Given the description of an element on the screen output the (x, y) to click on. 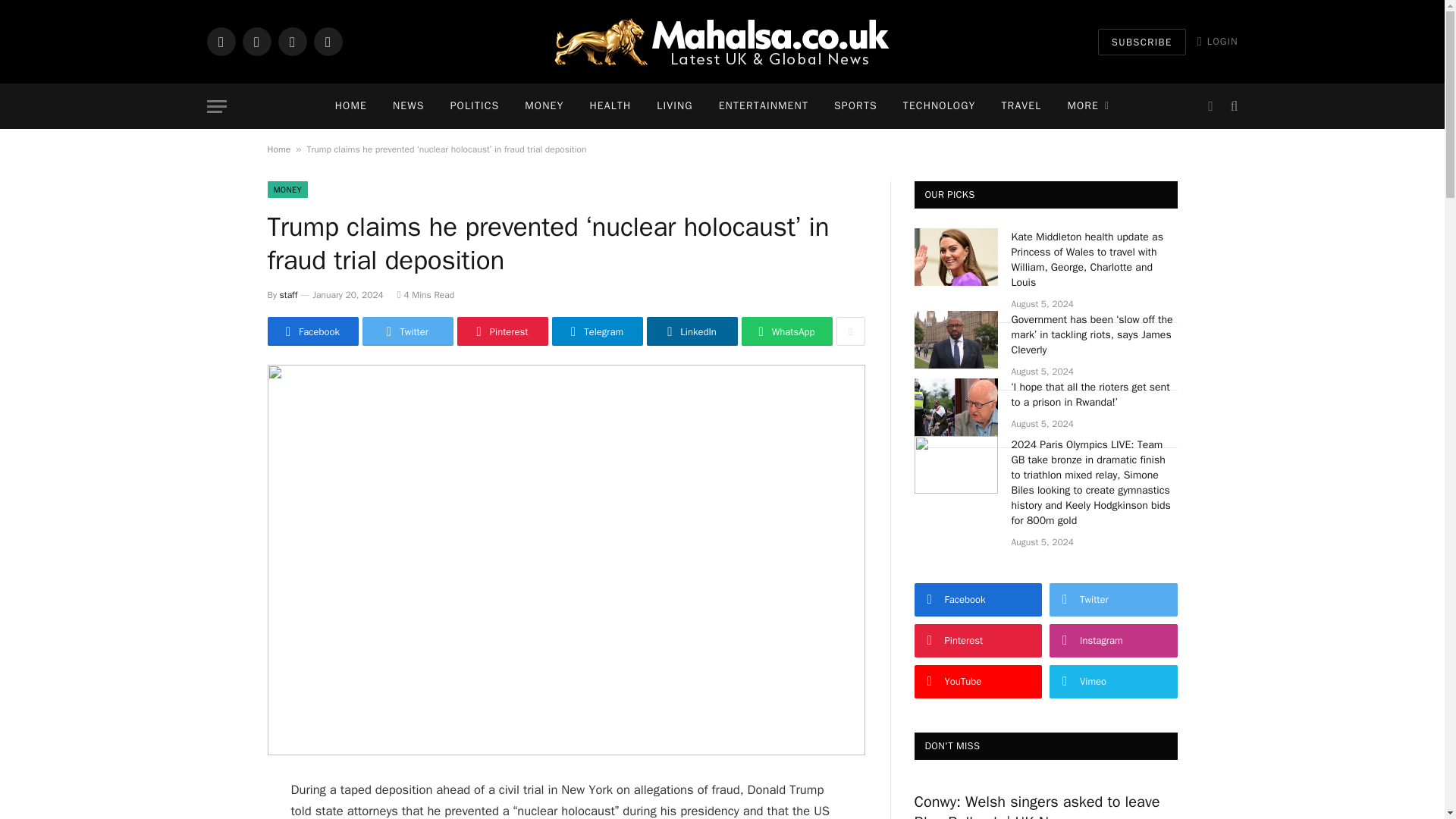
SUBSCRIBE (1141, 41)
Switch to Dark Design - easier on eyes. (1209, 106)
MONEY (544, 105)
LOGIN (1217, 41)
Vimeo (328, 41)
HOME (350, 105)
POLITICS (475, 105)
Facebook (220, 41)
NEWS (409, 105)
Instagram (291, 41)
Mahalsa UK (721, 41)
